Given the description of an element on the screen output the (x, y) to click on. 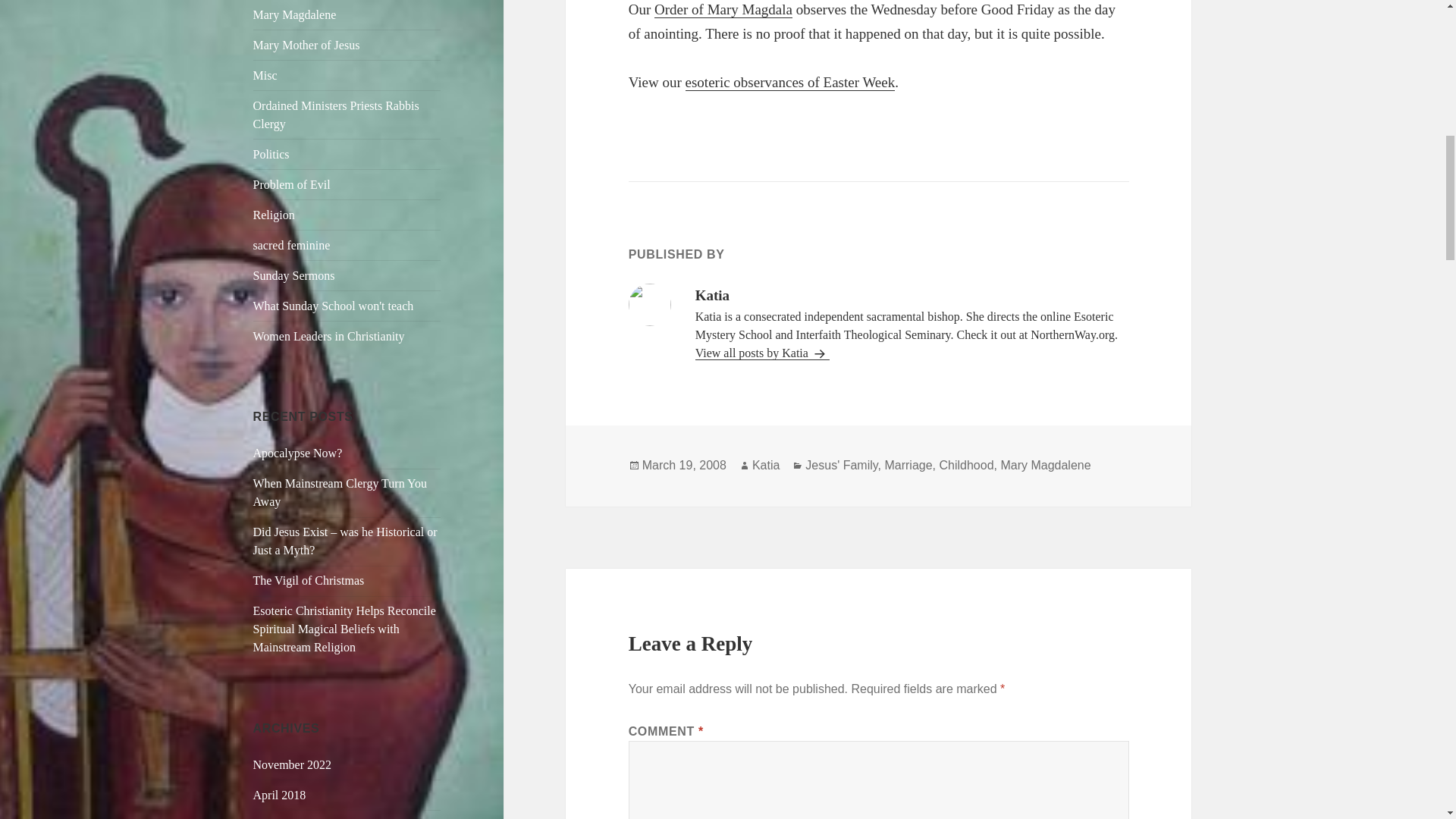
Women Leaders in Christianity (328, 336)
Religion (274, 214)
The Vigil of Christmas (309, 580)
Problem of Evil (291, 184)
Sunday Sermons (293, 275)
Apocalypse Now? (297, 452)
Ordained Ministers Priests Rabbis Clergy (336, 114)
When Mainstream Clergy Turn You Away (340, 491)
Mary Mother of Jesus (306, 44)
Mary Magdalene (294, 14)
April 2018 (279, 794)
November 2022 (292, 764)
sacred feminine (291, 245)
What Sunday School won't teach (333, 305)
